Given the description of an element on the screen output the (x, y) to click on. 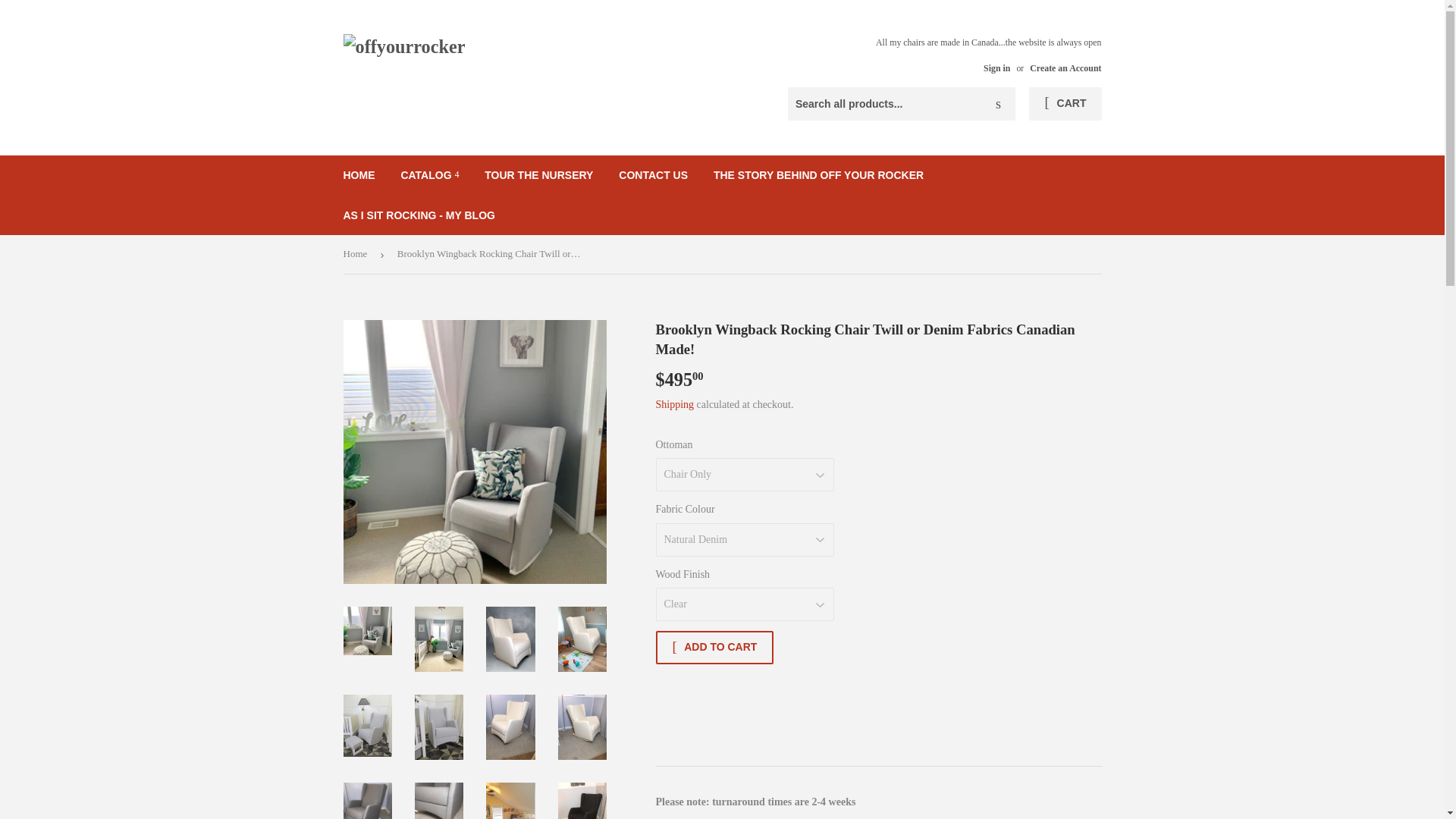
CATALOG (429, 174)
Sign in (997, 68)
CART (1064, 103)
Create an Account (1064, 68)
Search (997, 104)
HOME (359, 174)
